Given the description of an element on the screen output the (x, y) to click on. 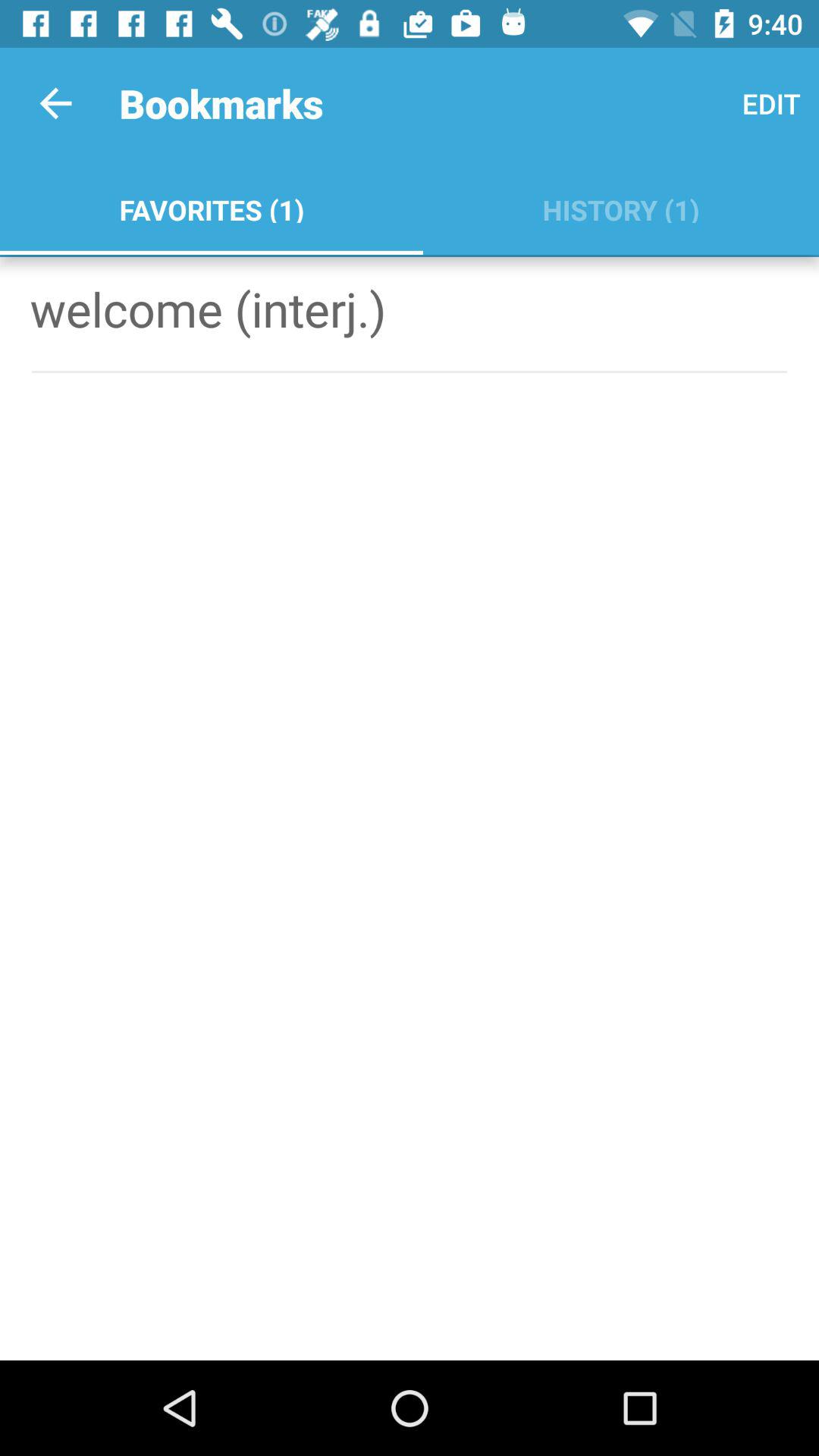
choose the icon below the edit icon (621, 206)
